Given the description of an element on the screen output the (x, y) to click on. 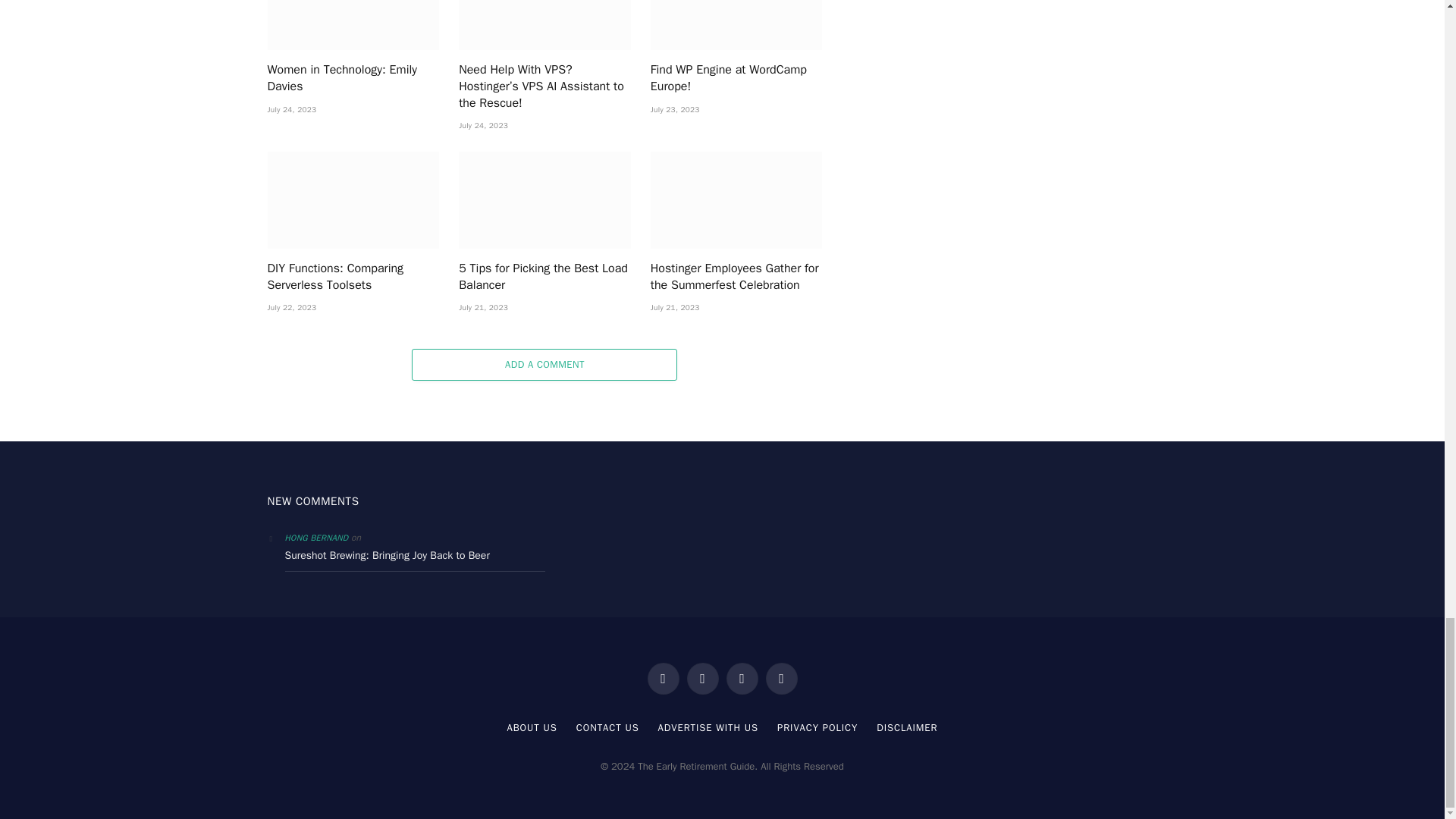
Women in Technology: Emily Davies (352, 24)
